Given the description of an element on the screen output the (x, y) to click on. 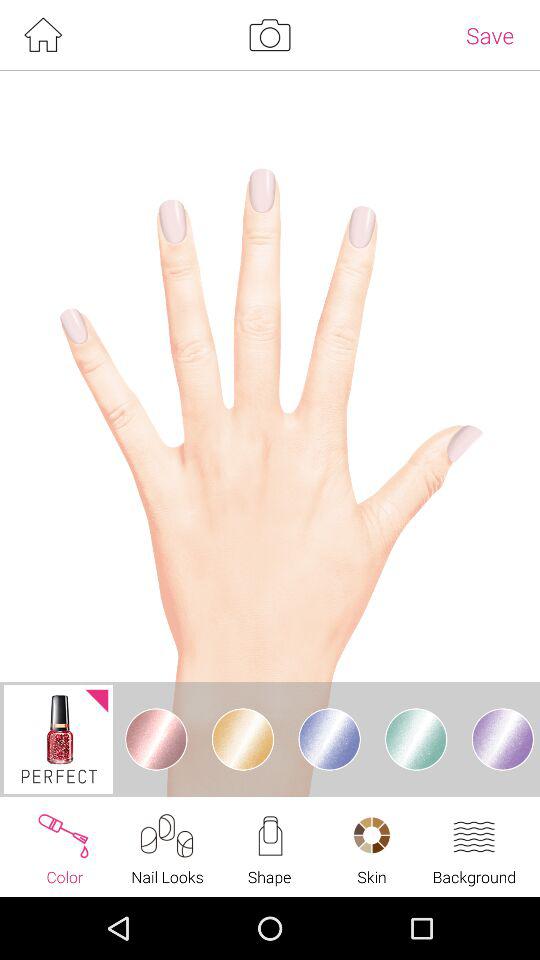
jump until the save (490, 35)
